Given the description of an element on the screen output the (x, y) to click on. 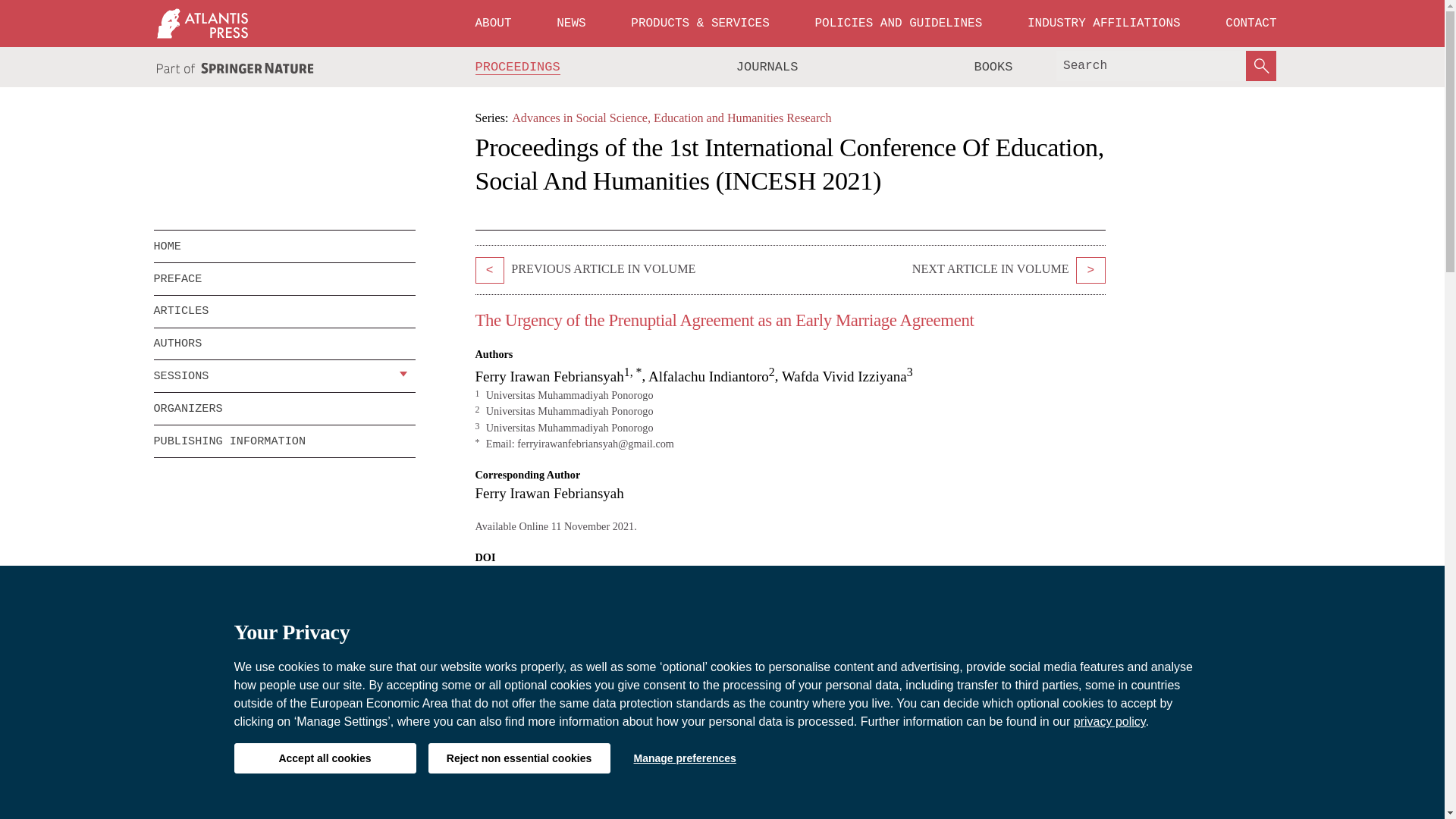
Manage preferences (683, 757)
Atlantis Press (201, 23)
ARTICLES (283, 311)
PROCEEDINGS (518, 66)
PUBLISHING INFORMATION (283, 441)
Accept all cookies (323, 757)
How to use a DOI? (705, 576)
JOURNALS (767, 66)
ORGANIZERS (283, 409)
